Given the description of an element on the screen output the (x, y) to click on. 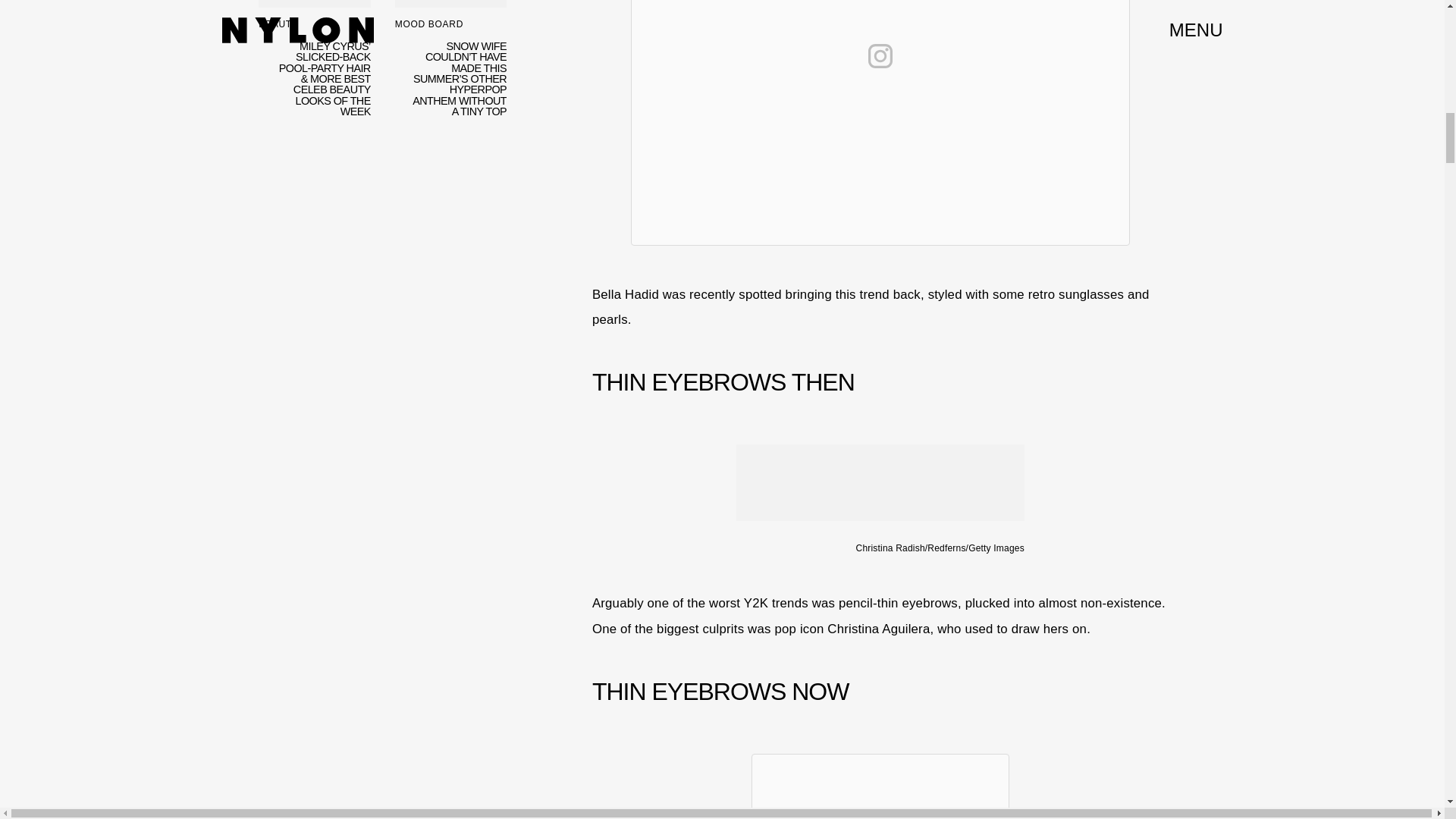
View on Instagram (879, 55)
